Given the description of an element on the screen output the (x, y) to click on. 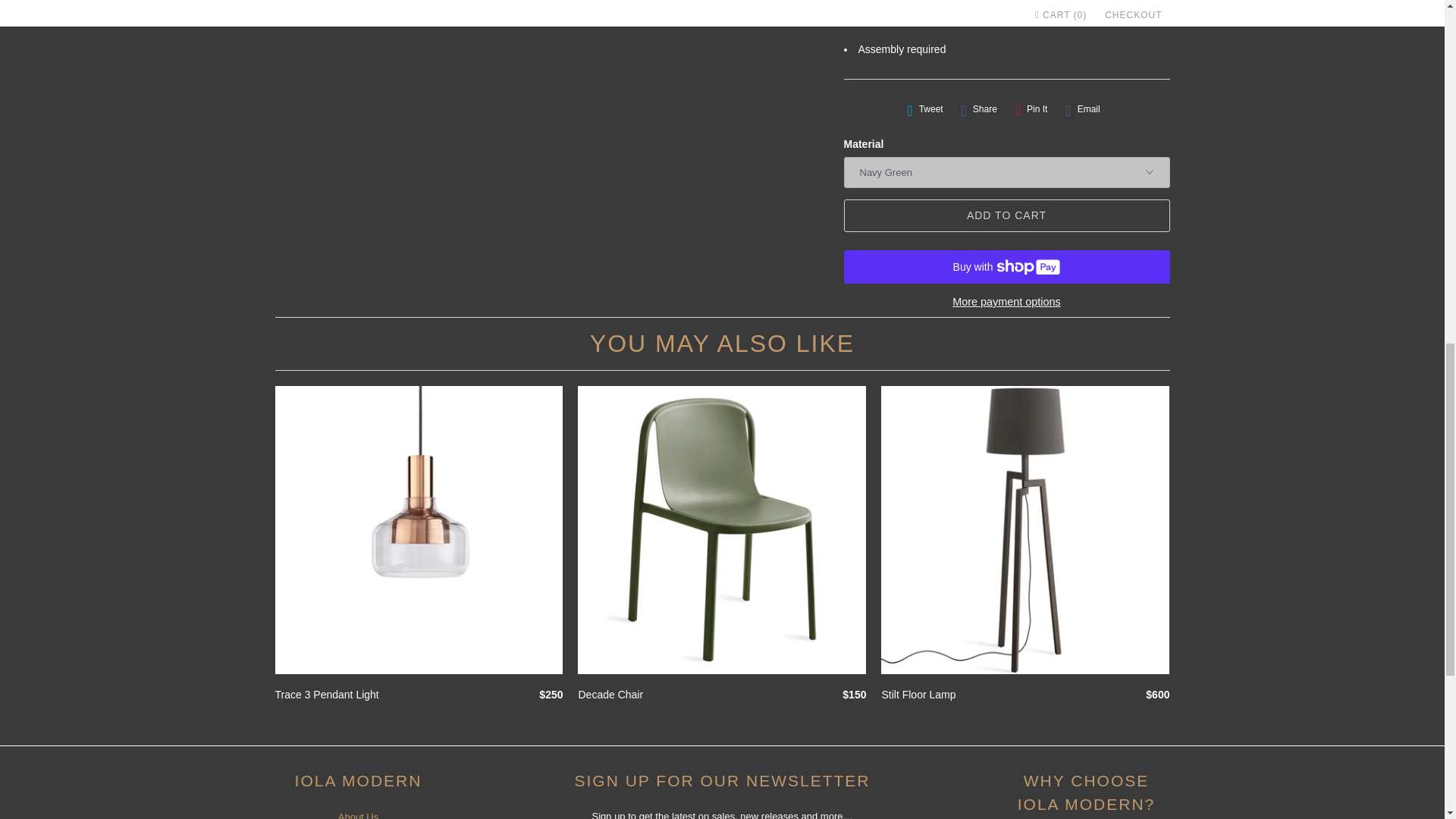
Share this on Facebook (978, 109)
Share this on Twitter (924, 109)
Share this on Pinterest (1031, 109)
